Given the description of an element on the screen output the (x, y) to click on. 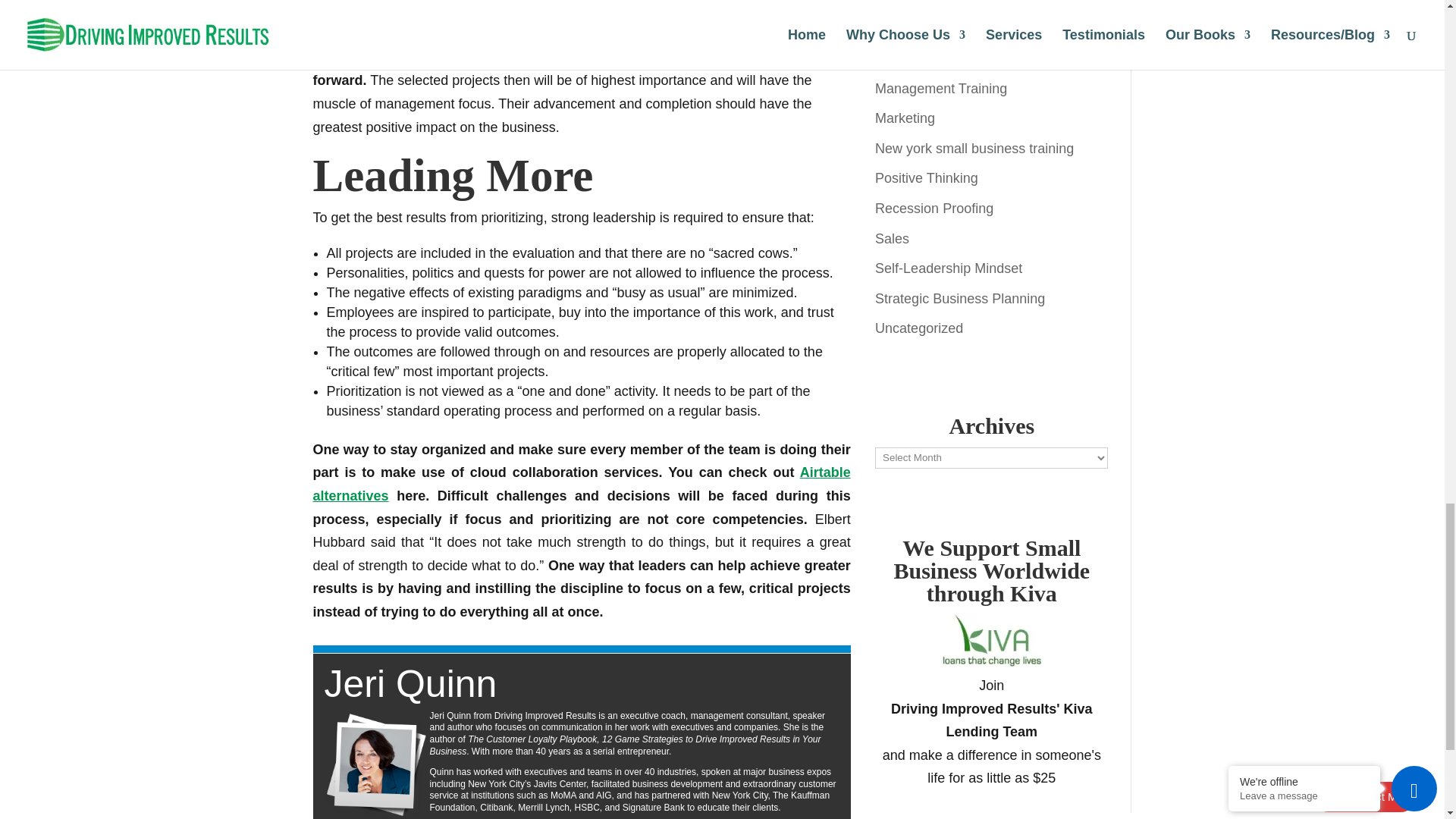
Airtable alternatives (581, 484)
